Given the description of an element on the screen output the (x, y) to click on. 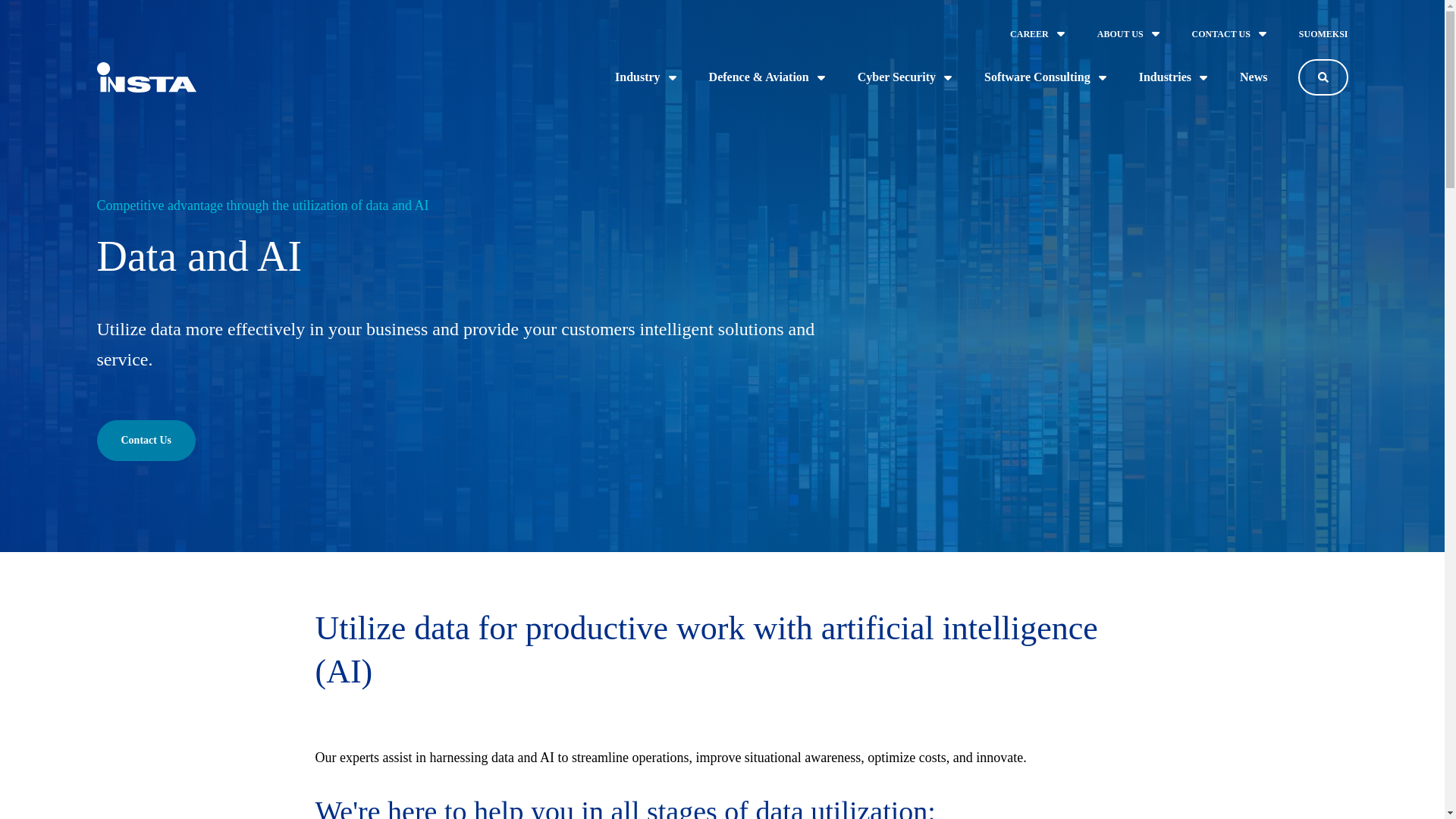
CONTACT US (1230, 33)
News (1253, 76)
CAREER (1038, 33)
Industry (646, 76)
Cyber Security (905, 76)
Contact Us (146, 440)
SUOMEKSI (1323, 33)
Industries (1173, 76)
ABOUT US (1129, 33)
Software Consulting (1046, 76)
